Given the description of an element on the screen output the (x, y) to click on. 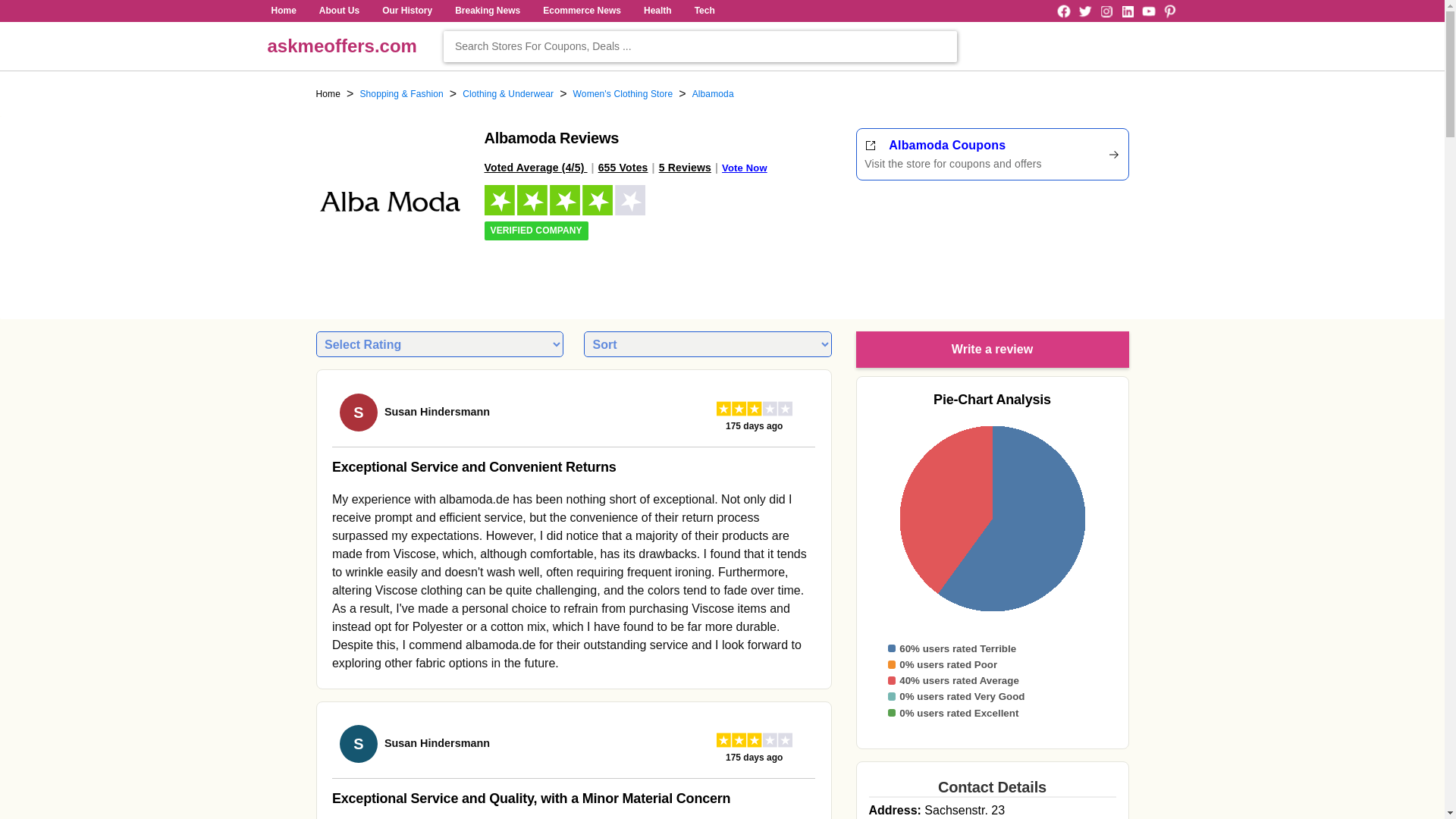
Ecommerce News (581, 10)
Breaking News (487, 10)
LinkedIn (991, 154)
Twitter Username (1126, 11)
Home (1084, 11)
Instagram (327, 93)
Twitter Username (1105, 11)
Pinterest (1084, 11)
Our History (1168, 11)
